Given the description of an element on the screen output the (x, y) to click on. 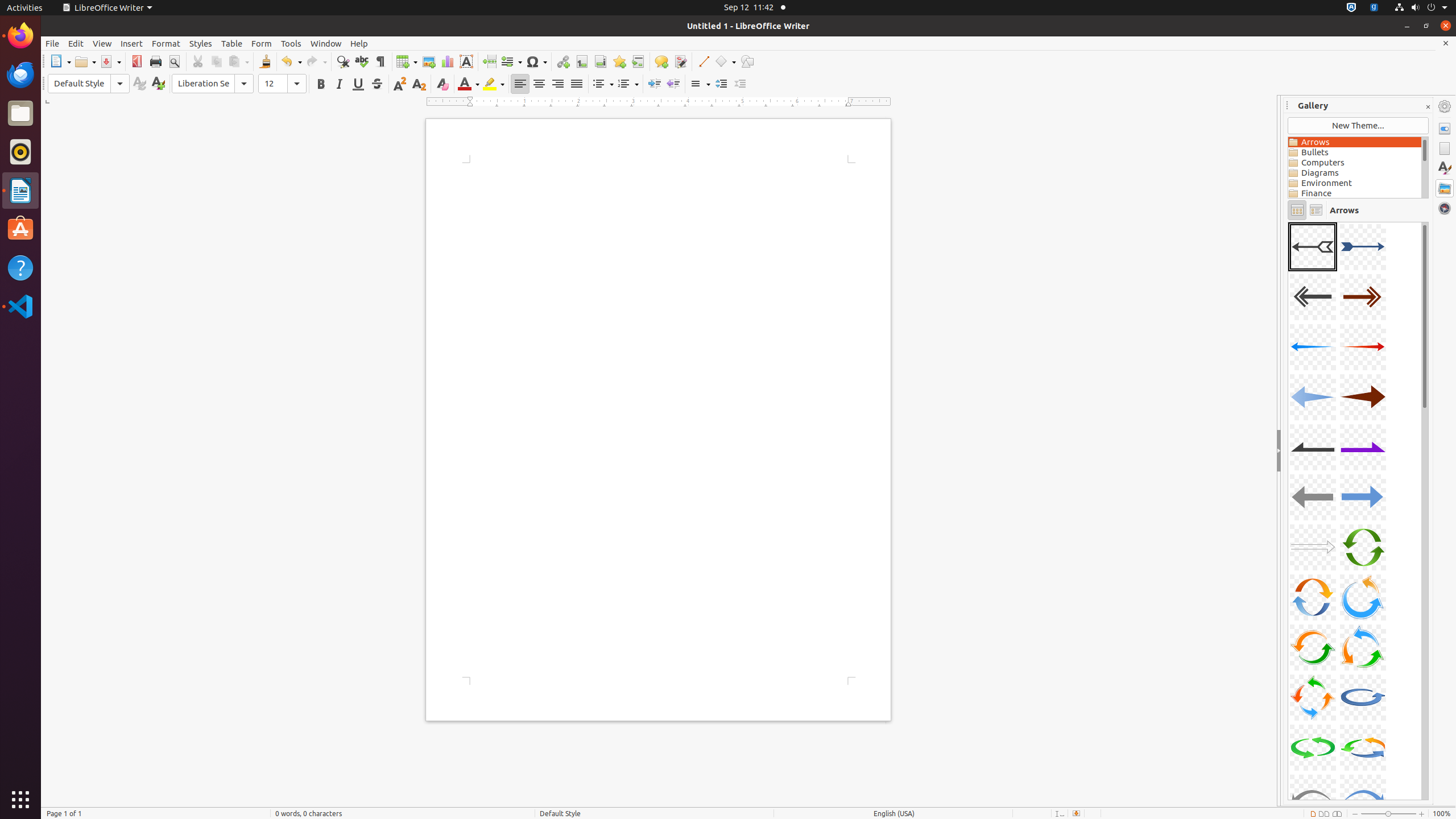
Field Element type: push-button (510, 61)
Computers Element type: list-item (1354, 162)
Show Applications Element type: toggle-button (20, 799)
Draw Functions Element type: push-button (746, 61)
Copy Element type: push-button (216, 61)
